Given the description of an element on the screen output the (x, y) to click on. 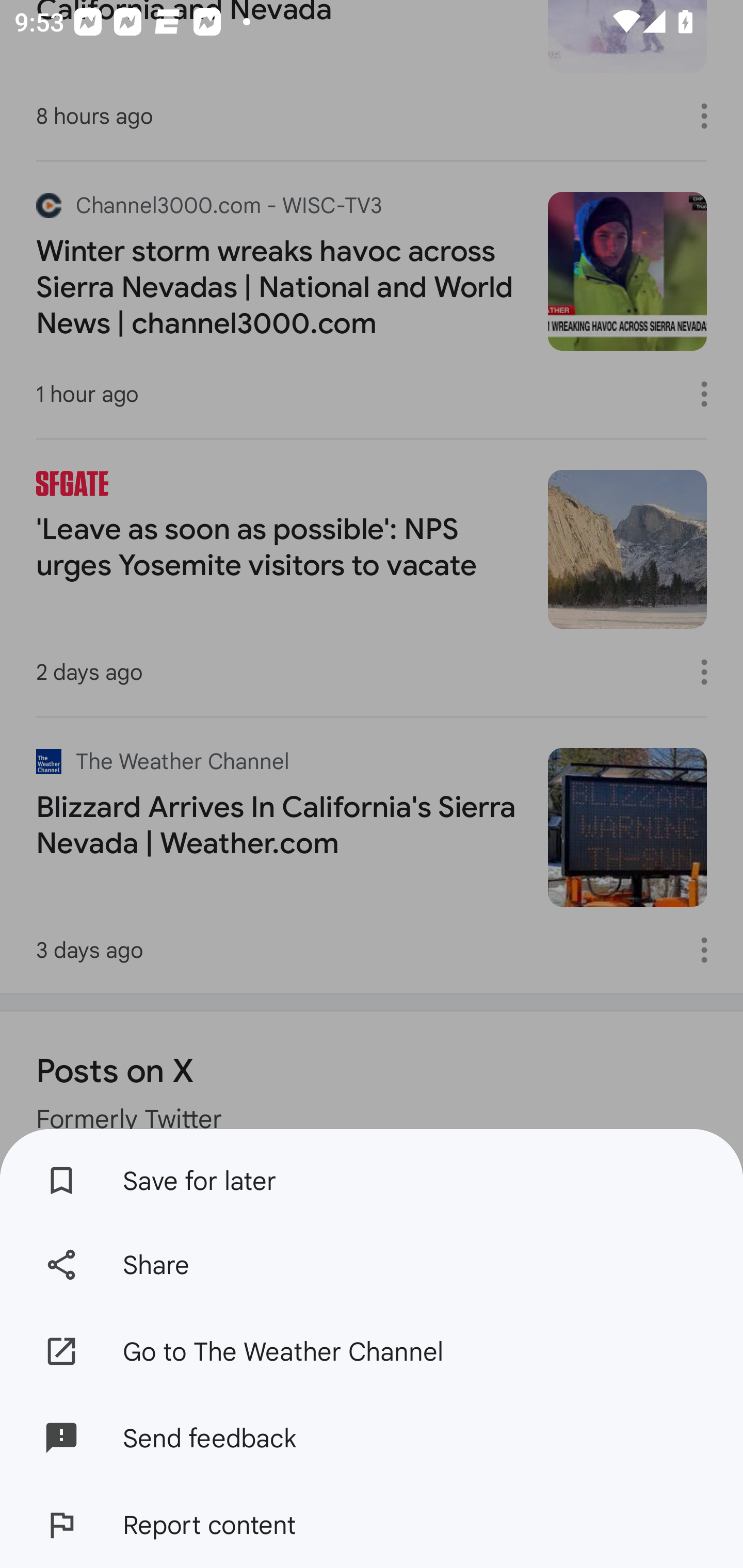
Save for later (371, 1174)
Share (371, 1264)
Go to The Weather Channel (371, 1350)
Send feedback (371, 1437)
Report content (371, 1524)
